Given the description of an element on the screen output the (x, y) to click on. 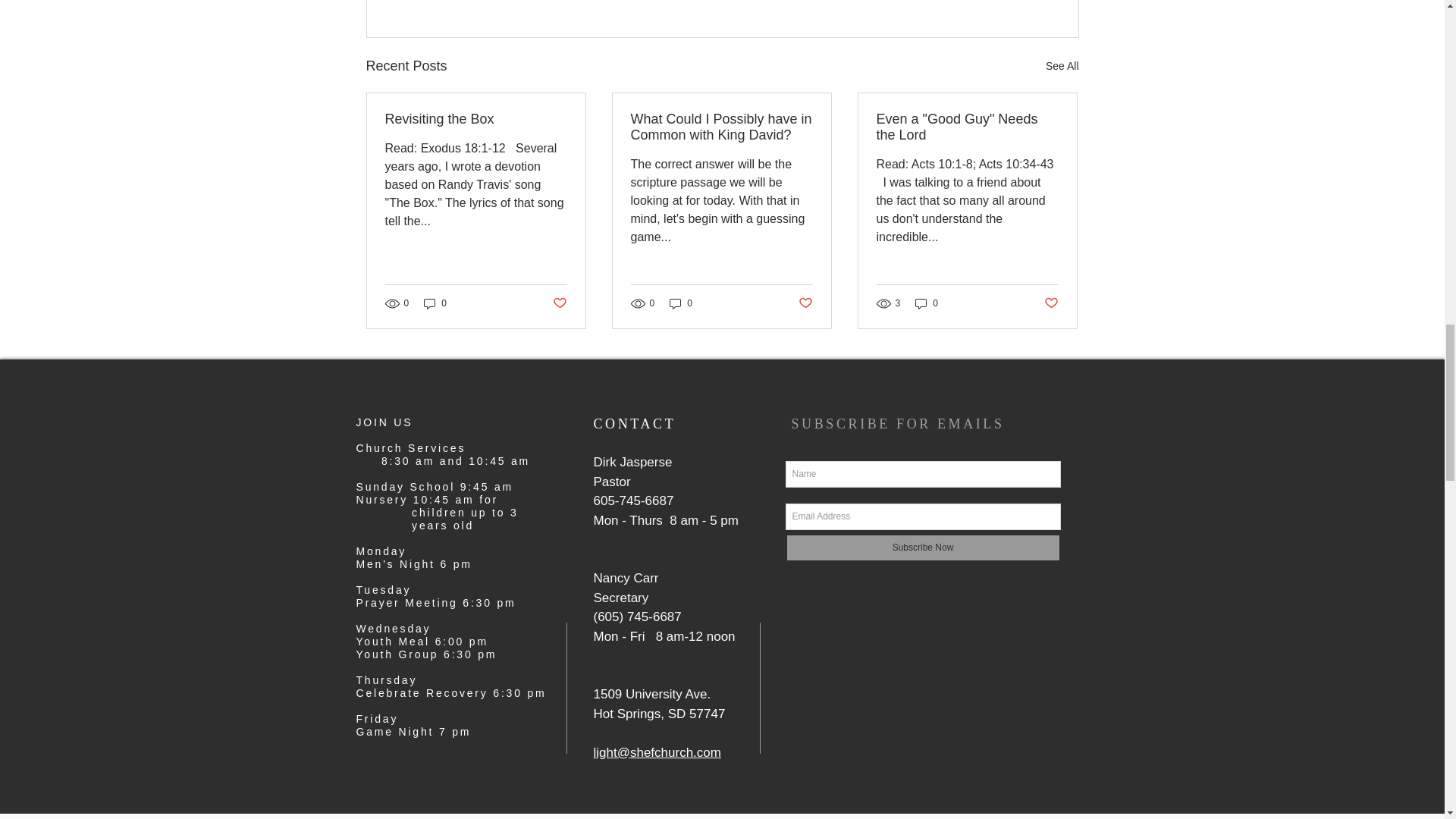
See All (1061, 65)
0 (435, 302)
Revisiting the Box (476, 119)
